Given the description of an element on the screen output the (x, y) to click on. 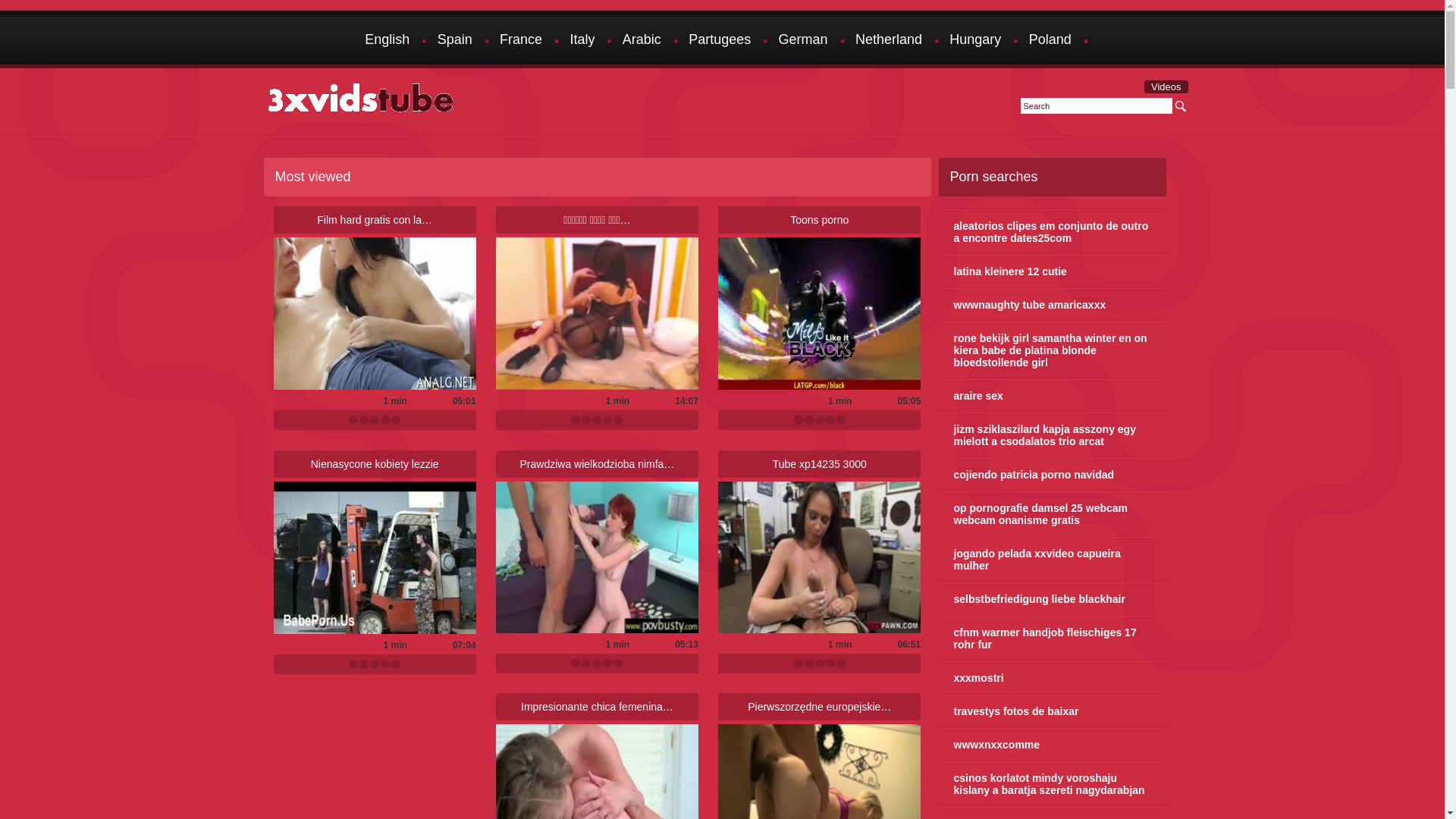
Arabic Element type: text (641, 40)
cfnm warmer handjob fleischiges 17 rohr fur Element type: text (1052, 638)
Nienasycone kobiety lezzie Element type: text (374, 464)
op pornografie damsel 25 webcam webcam onanisme gratis Element type: text (1052, 514)
travestys fotos de baixar Element type: text (1052, 711)
jogando pelada xxvideo capueira mulher Element type: text (1052, 559)
xxxmostri Element type: text (1052, 677)
Videos Element type: text (1166, 86)
Hungary Element type: text (975, 40)
araire sex Element type: text (1052, 395)
latina kleinere 12 cutie Element type: text (1052, 271)
selbstbefriedigung liebe blackhair Element type: text (1052, 599)
cojiendo patricia porno navidad Element type: text (1052, 474)
Poland Element type: text (1050, 40)
wwwnaughty tube amaricaxxx Element type: text (1052, 304)
Toons porno Element type: text (819, 219)
France Element type: text (520, 40)
wwwxnxxcomme Element type: text (1052, 744)
aleatorios clipes em conjunto de outro a encontre dates25com Element type: text (1052, 232)
English Element type: text (386, 40)
Netherland Element type: text (888, 40)
German Element type: text (803, 40)
Tube xp14235 3000 Element type: text (819, 464)
Italy Element type: text (581, 40)
Spain Element type: text (454, 40)
Partugees Element type: text (719, 40)
